Given the description of an element on the screen output the (x, y) to click on. 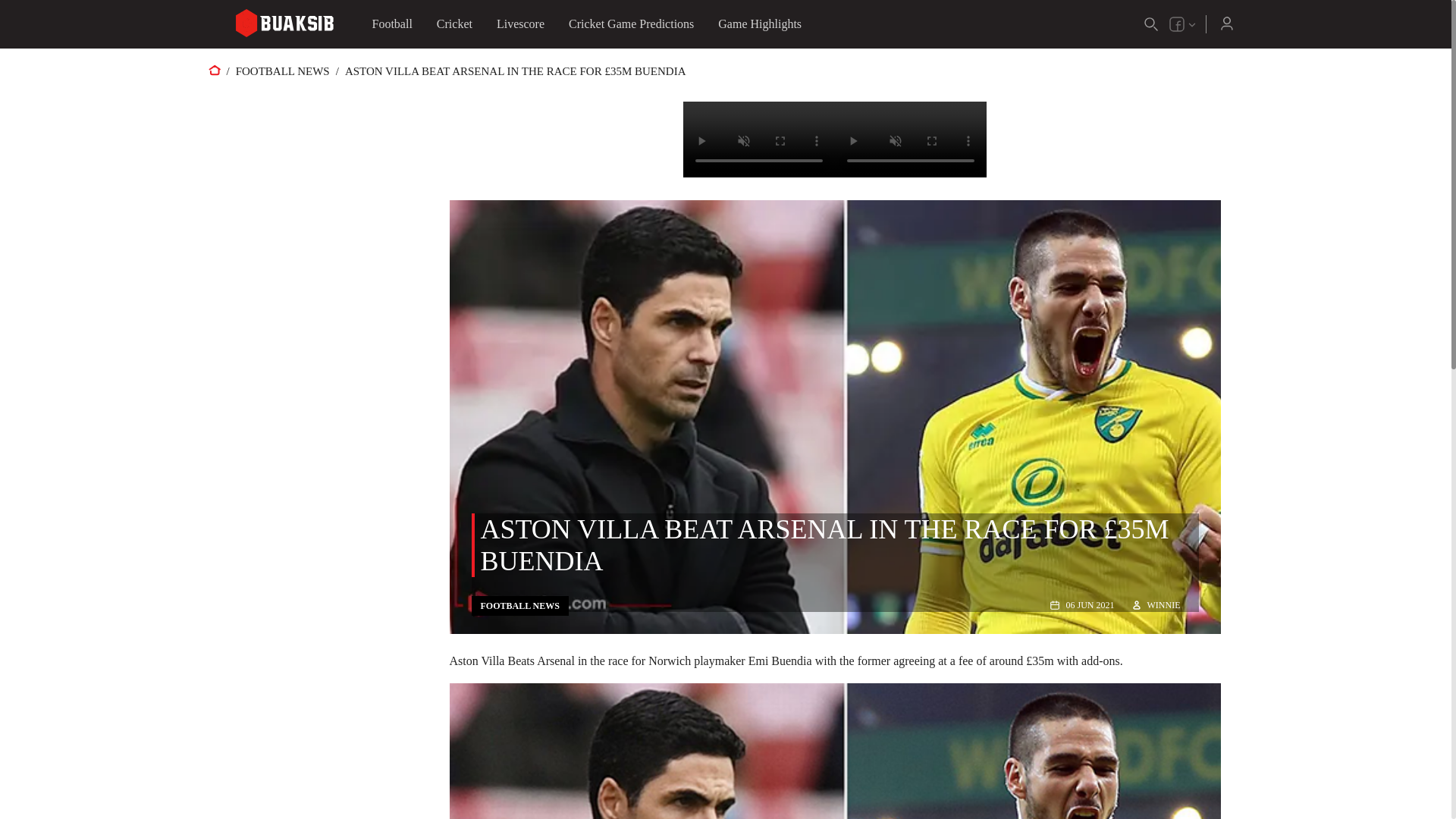
Game Highlights (759, 24)
Livescore (520, 24)
Cricket (454, 24)
Arsenal1 (834, 751)
FOOTBALL NEWS (520, 604)
Cricket Game Predictions (631, 24)
Football (391, 24)
FOOTBALL NEWS (282, 71)
